Given the description of an element on the screen output the (x, y) to click on. 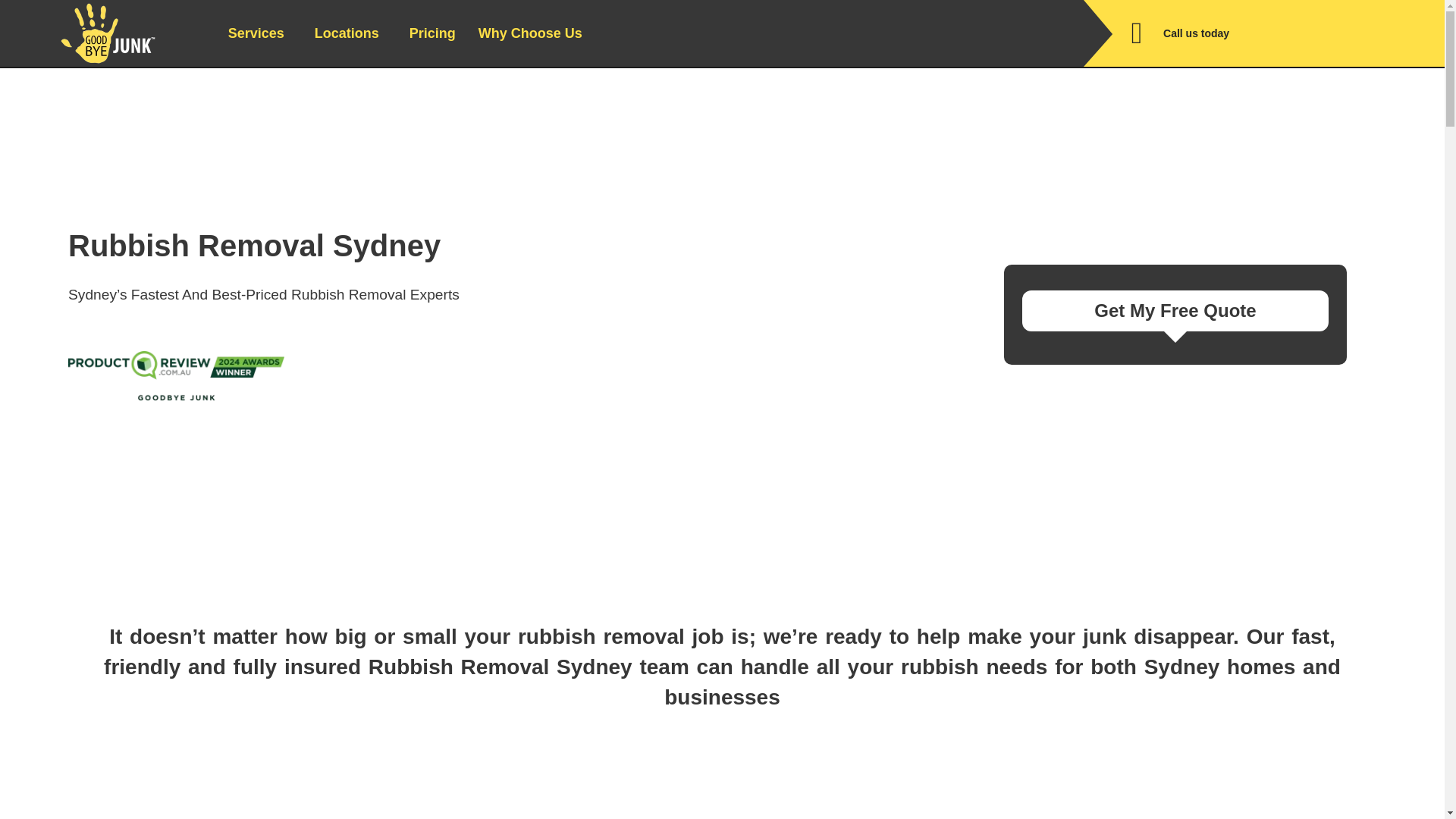
Services (259, 33)
Locations (349, 33)
Why Choose Us (534, 33)
Pricing (432, 33)
